Given the description of an element on the screen output the (x, y) to click on. 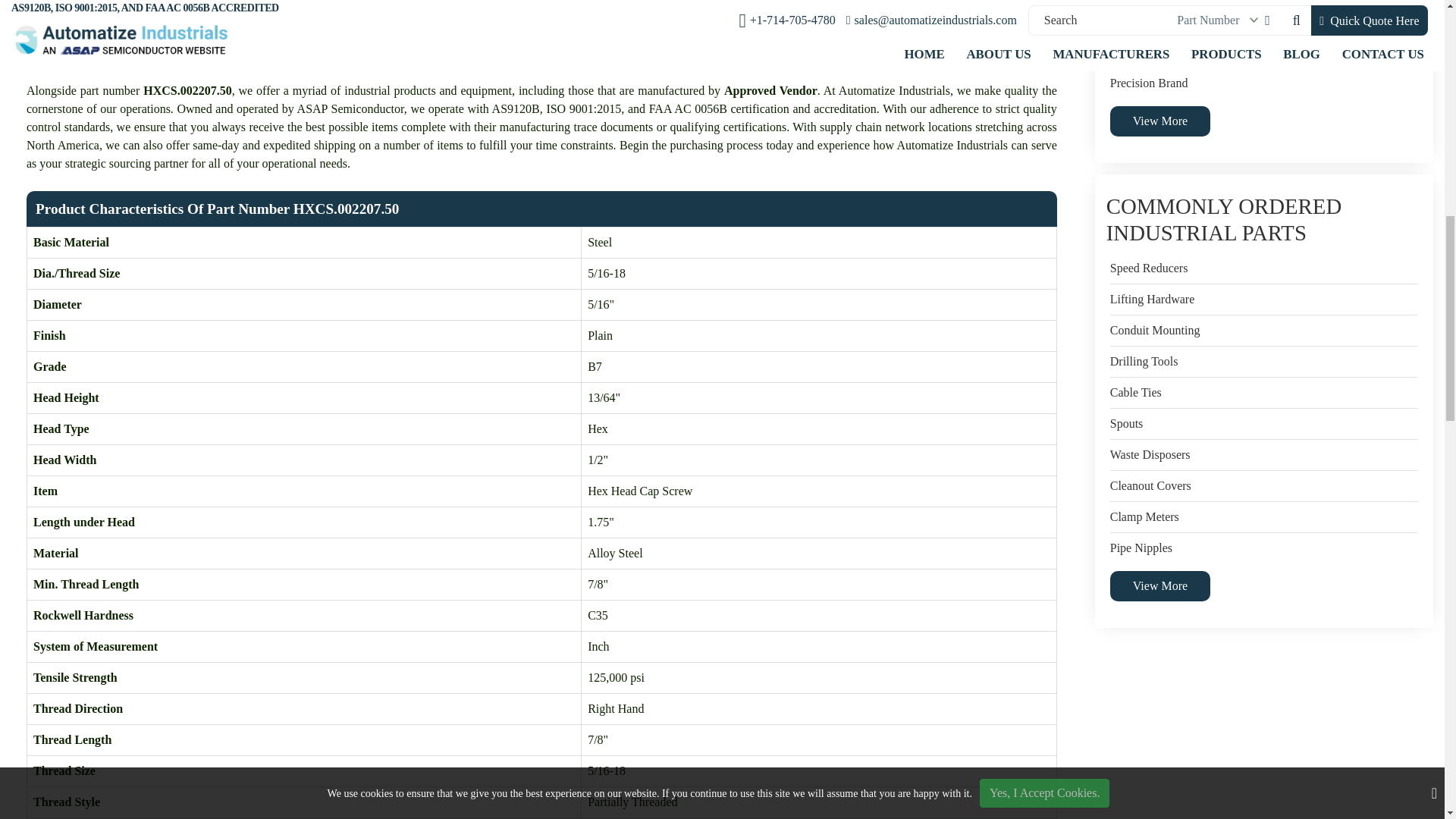
Jesco Inc (1131, 52)
Precision Brand (1148, 83)
Upload File (884, 30)
Honeywell (1136, 21)
